Given the description of an element on the screen output the (x, y) to click on. 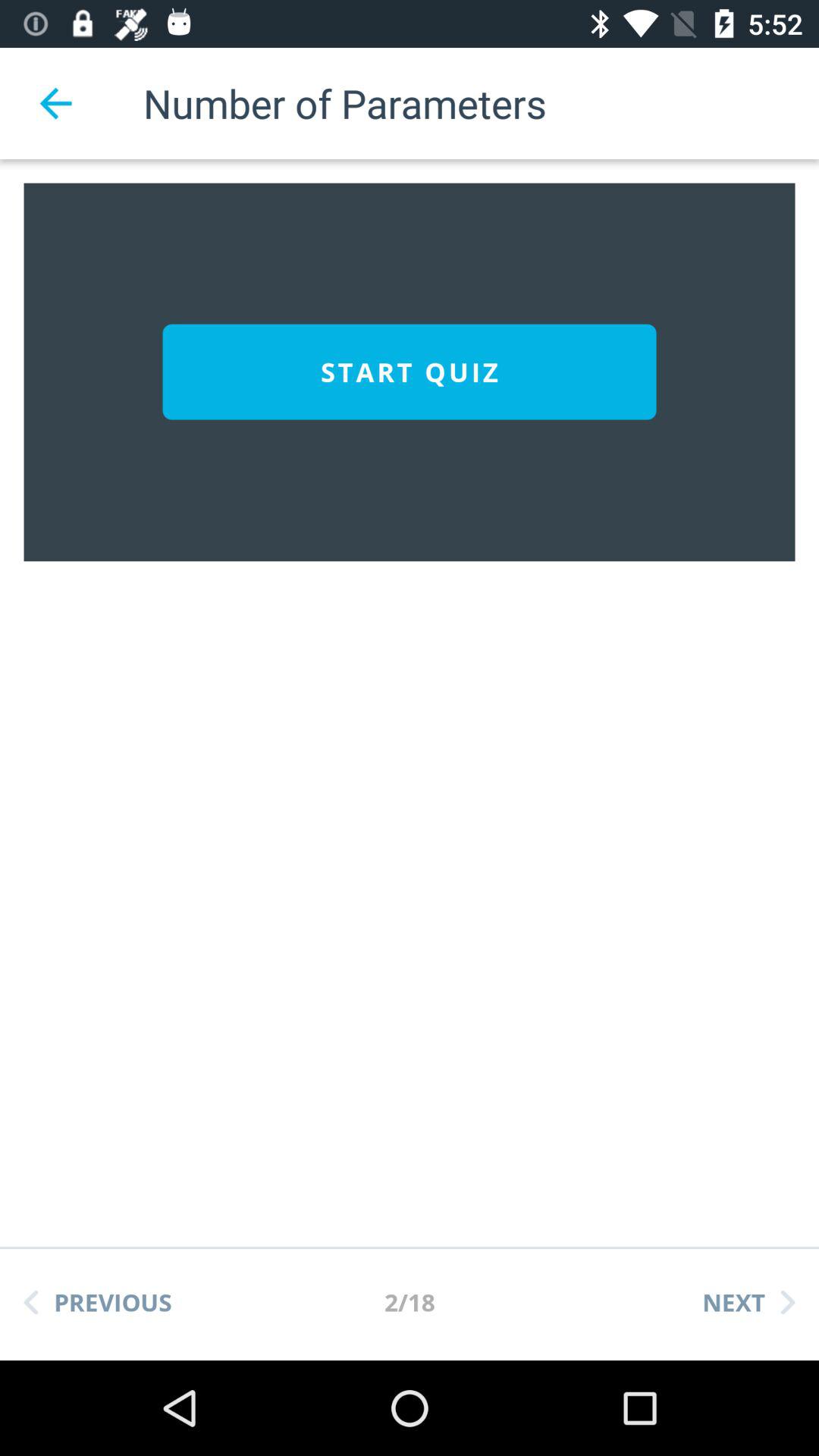
flip to next (748, 1302)
